Given the description of an element on the screen output the (x, y) to click on. 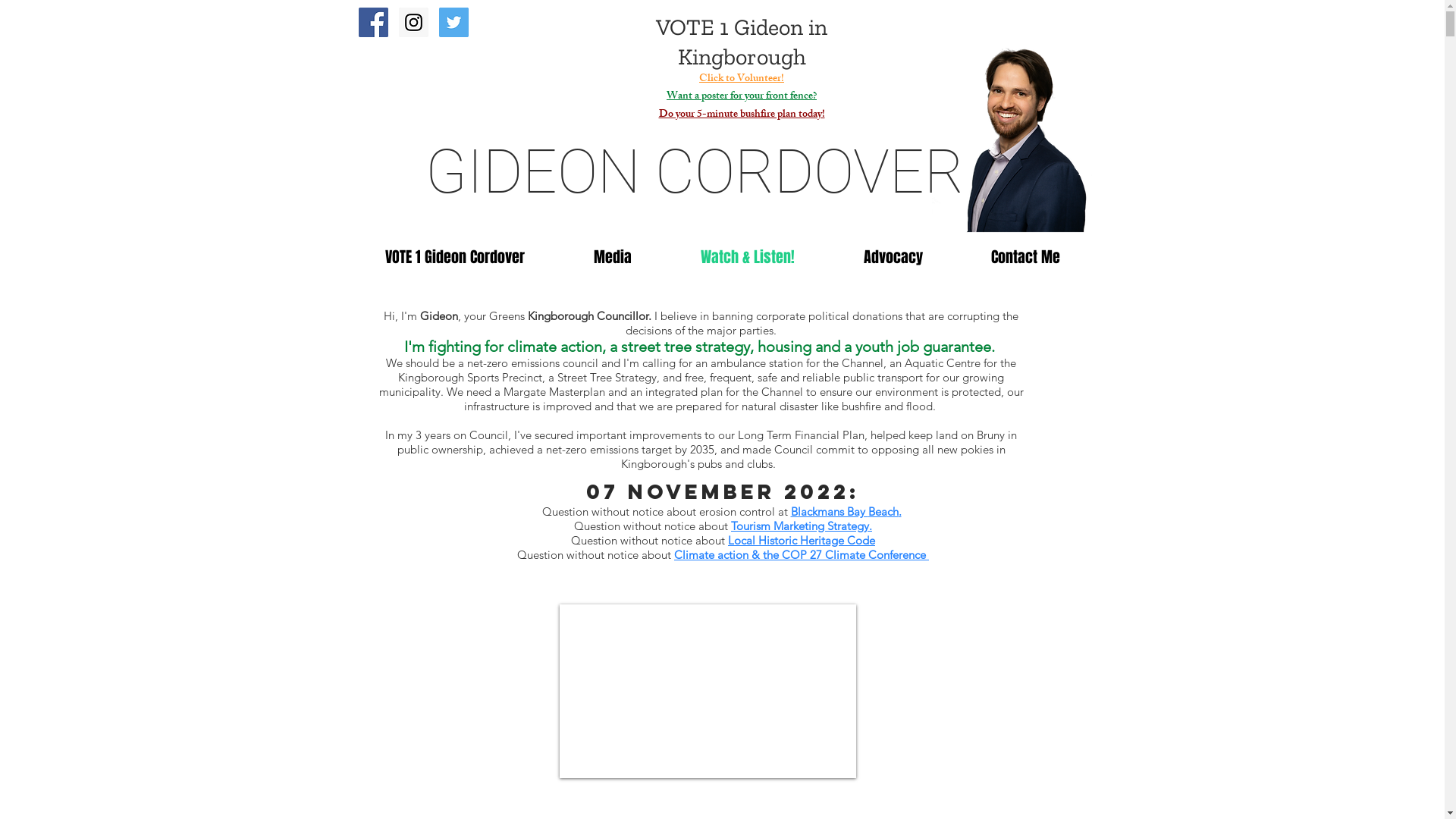
VOTE 1 Gideon Cordover Element type: text (454, 257)
Want a poster for your front fence? Element type: text (741, 96)
Contact Me Element type: text (1025, 257)
Media Element type: text (612, 257)
Click to Volunteer! Element type: text (741, 78)
Local Historic Heritage Code Element type: text (801, 540)
Watch & Listen! Element type: text (746, 257)
GIDEON CORDOVER Element type: text (693, 171)
Climate action & the COP 27 Climate Conference  Element type: text (801, 554)
. Element type: text (898, 511)
Do your 5-minute bushfire plan today! Element type: text (741, 114)
Tourism Marketing Strategy. Element type: text (801, 525)
ch Element type: text (892, 511)
Bea Element type: text (876, 511)
Blackmans Bay Element type: text (828, 511)
Advocacy Element type: text (893, 257)
